Given the description of an element on the screen output the (x, y) to click on. 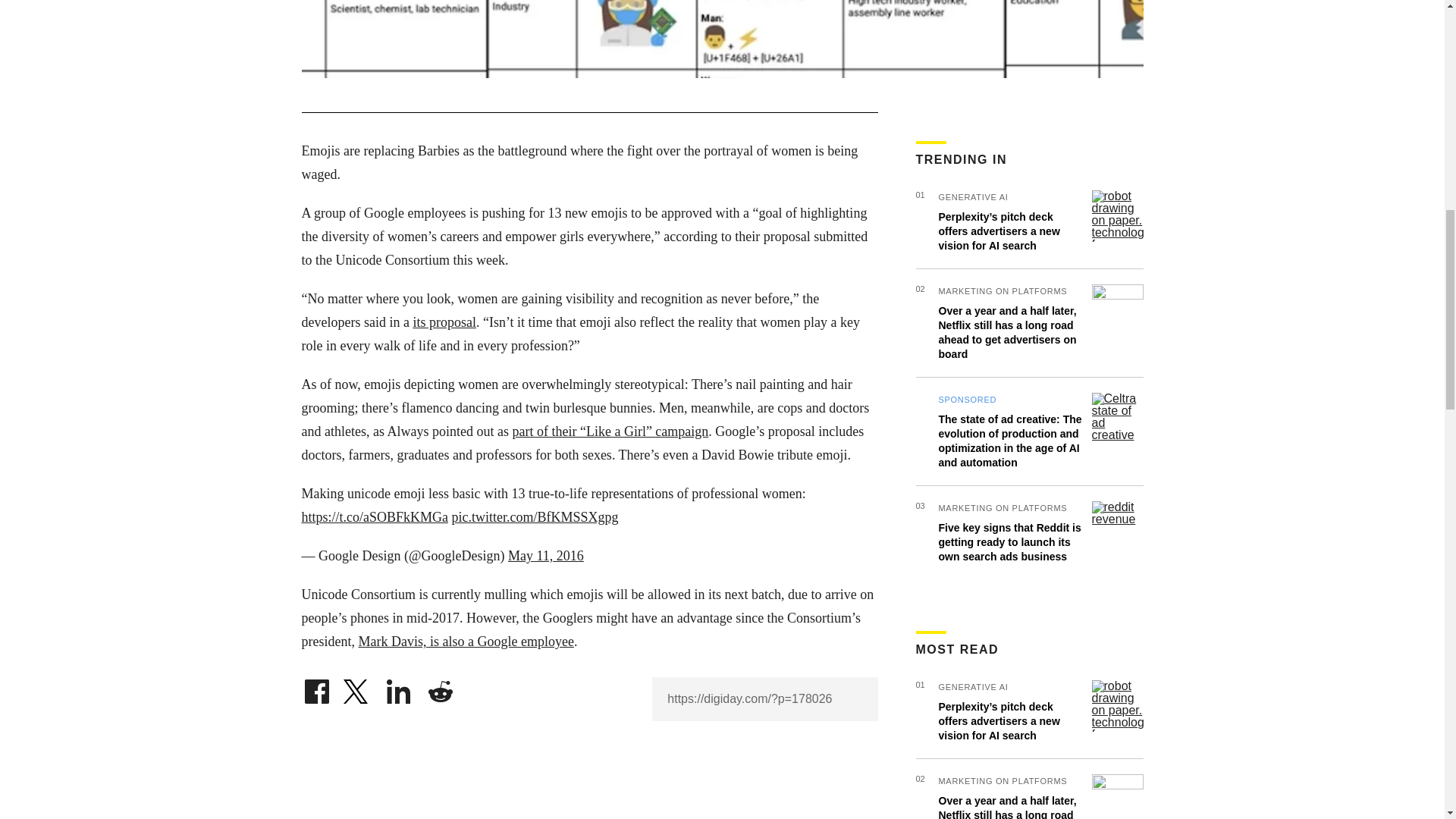
Share on LinkedIn (398, 687)
Share on Facebook (316, 687)
Share on Reddit (440, 687)
Share on Twitter (357, 687)
